Given the description of an element on the screen output the (x, y) to click on. 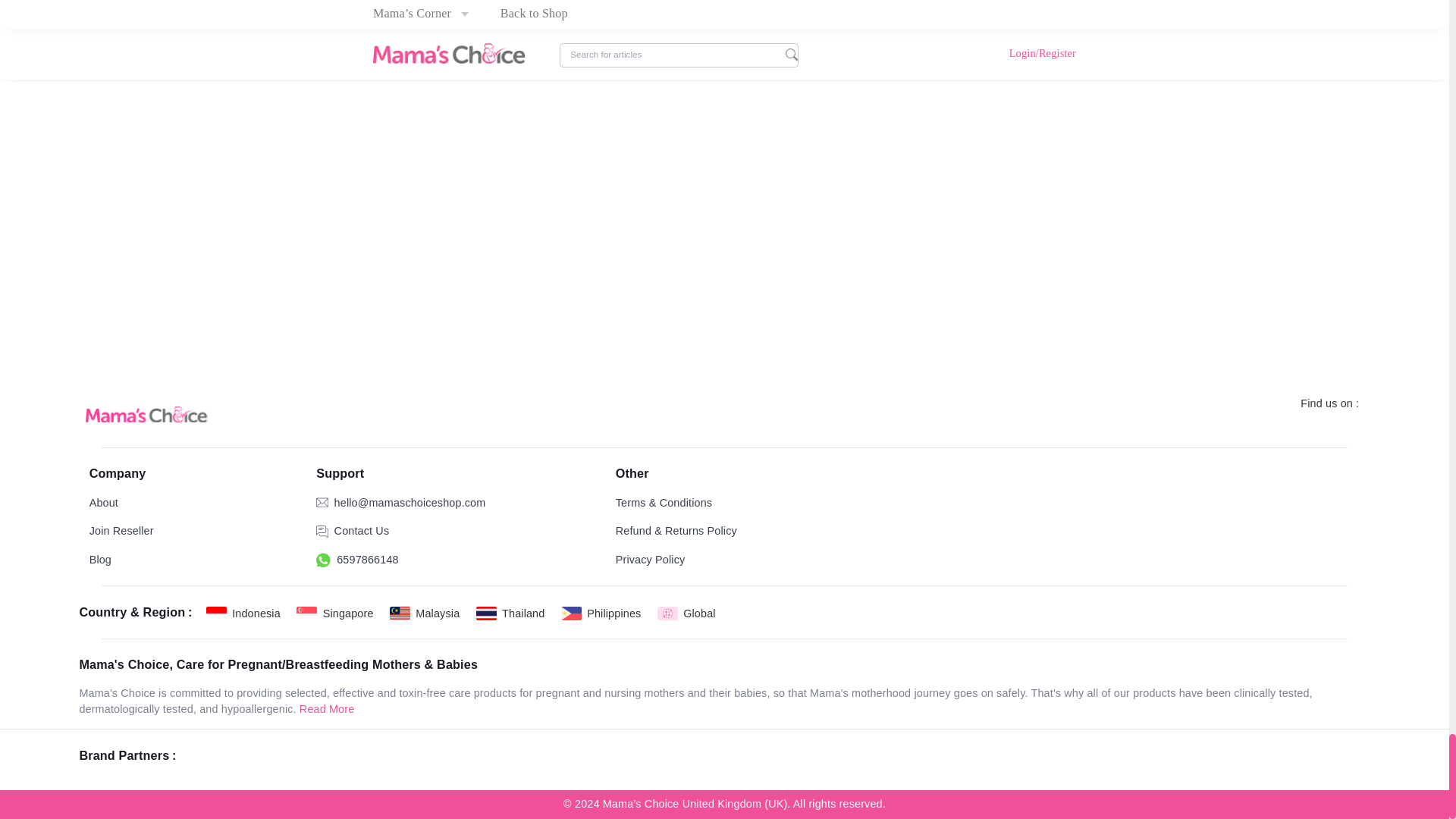
Sign up (548, 519)
Top Comments (1050, 646)
Subscribe (787, 14)
Newest (965, 646)
Login (494, 519)
Most Helpful (1150, 646)
Login (1169, 435)
